Given the description of an element on the screen output the (x, y) to click on. 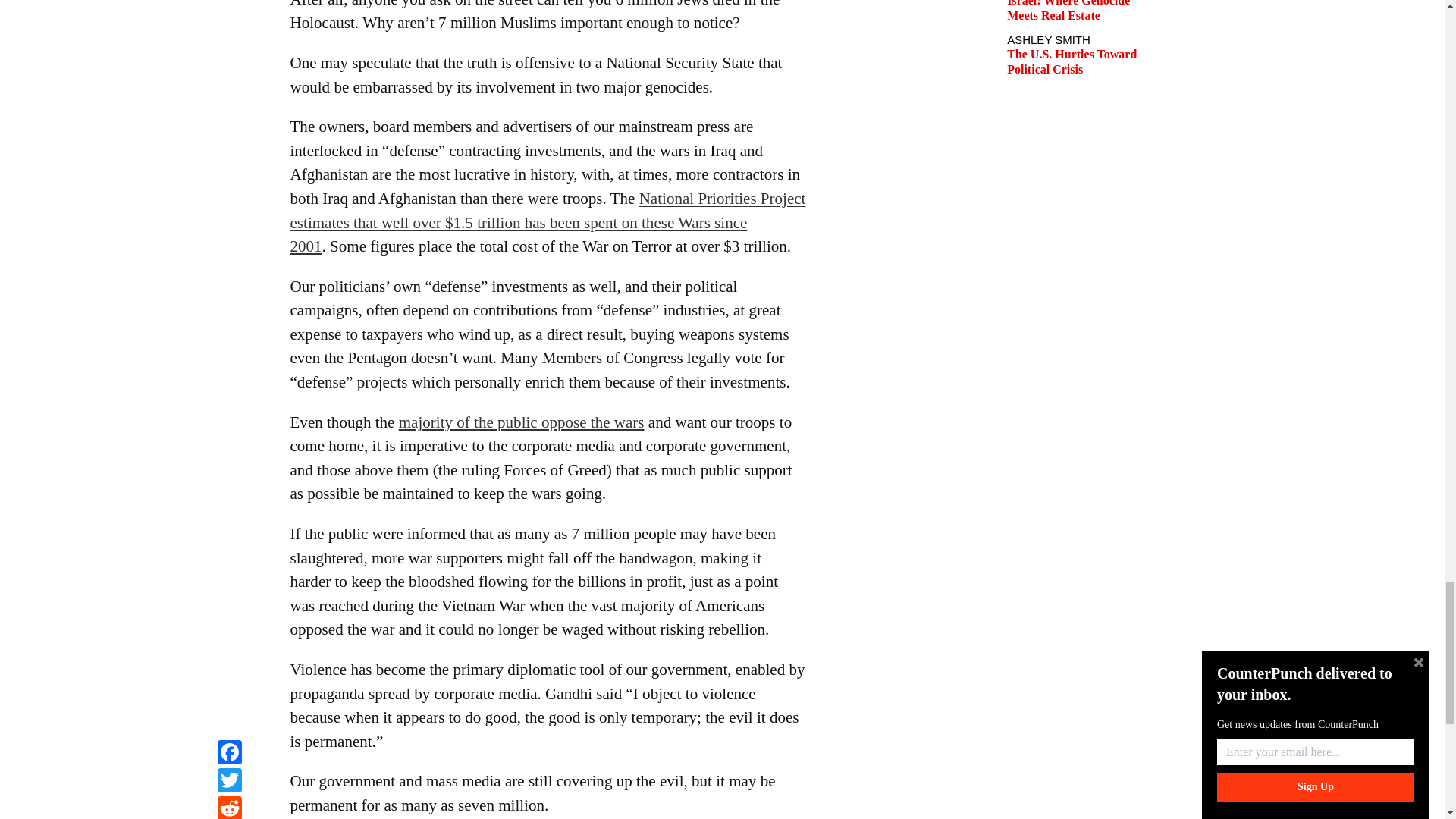
majority of the public oppose the wars (521, 422)
